Given the description of an element on the screen output the (x, y) to click on. 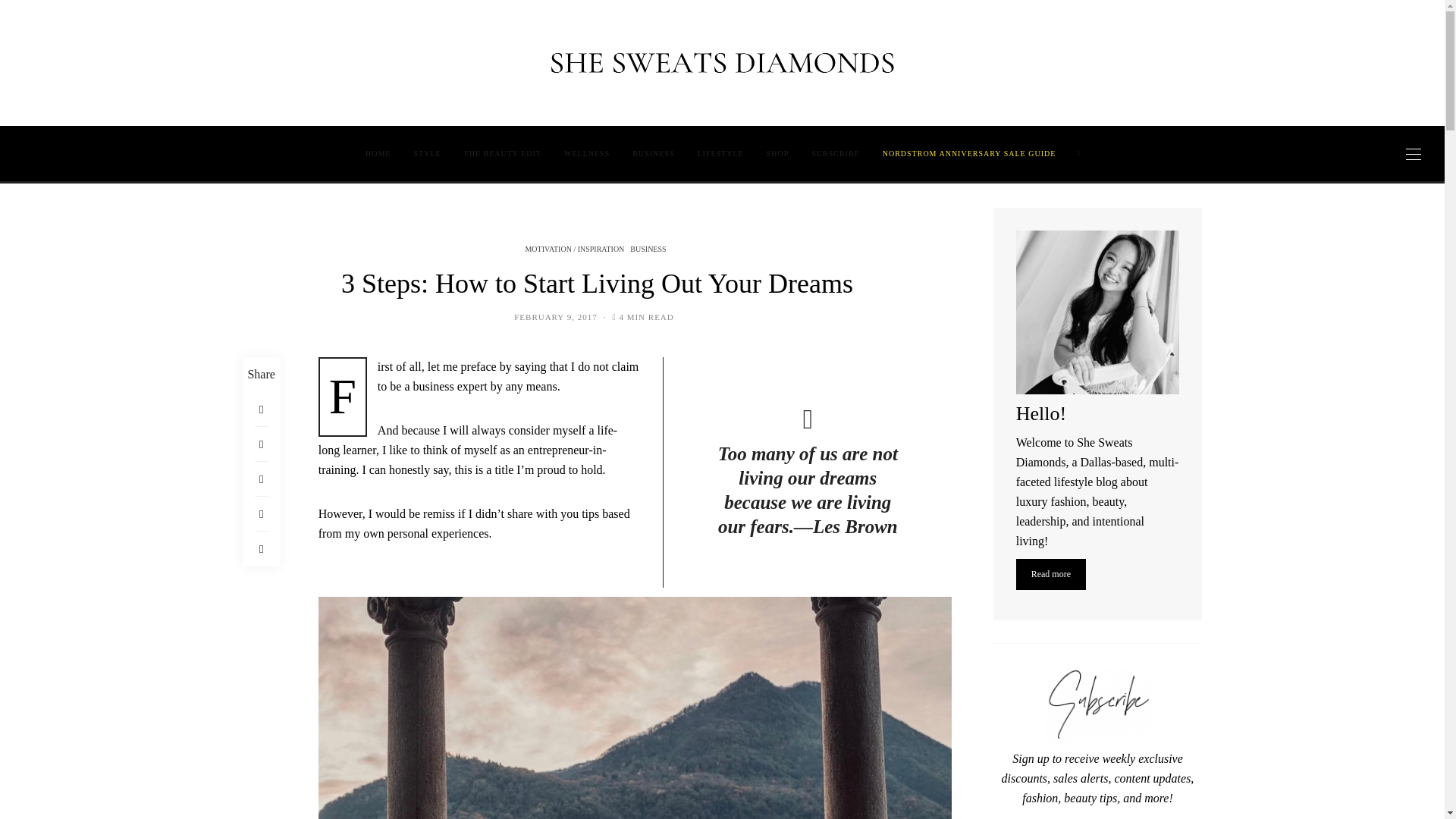
THE BEAUTY EDIT (502, 153)
STYLE (426, 153)
WELLNESS (587, 153)
